Given the description of an element on the screen output the (x, y) to click on. 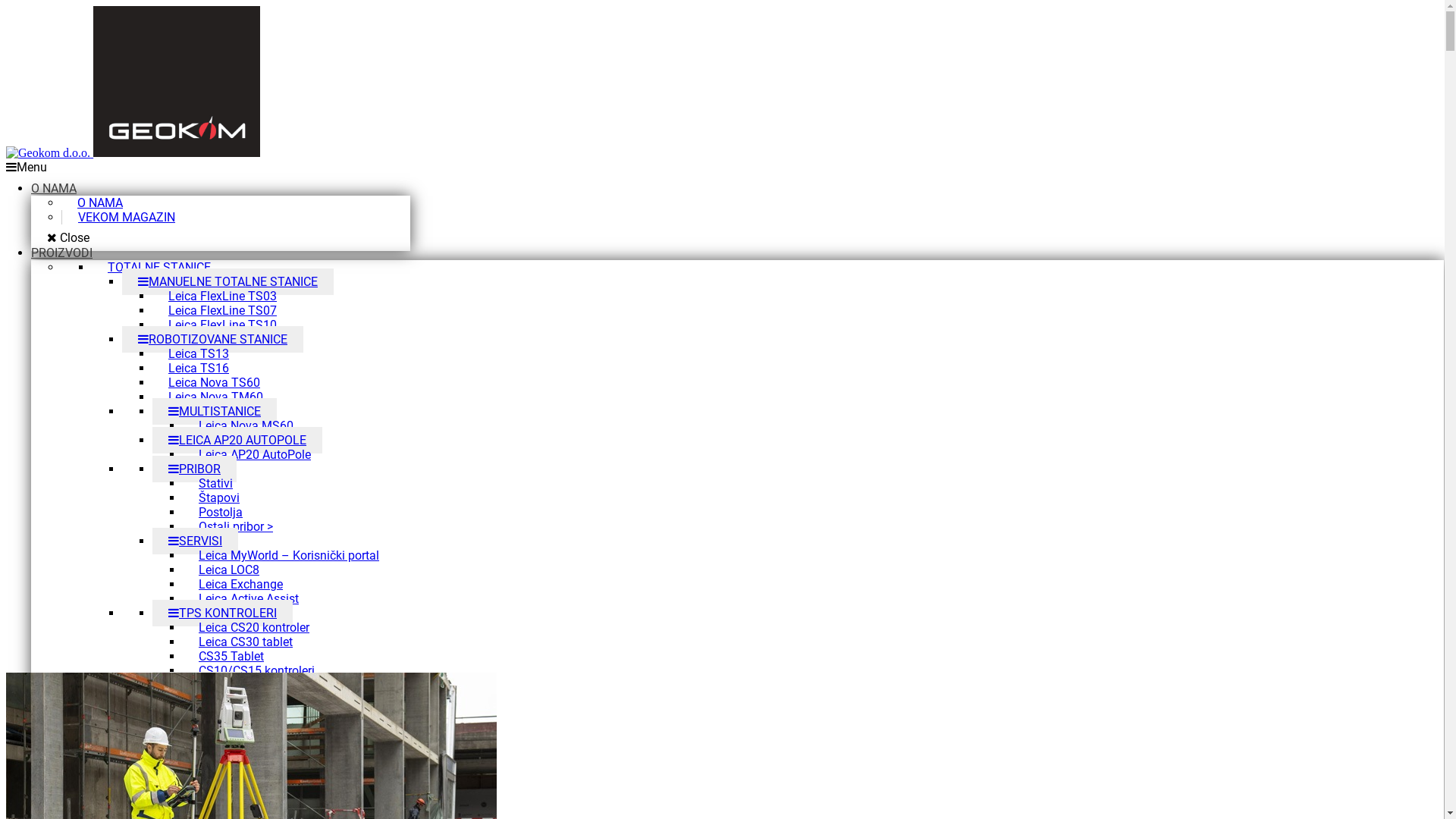
Leica CS20 kontroler Element type: text (253, 627)
Leica CS30 tablet Element type: text (245, 641)
ROBOTIZOVANE STANICE Element type: text (212, 339)
O NAMA Element type: text (53, 188)
PROIZVODI Element type: text (61, 252)
Leica LOC8 Element type: text (228, 569)
Leica GeoMoS Element type: text (207, 771)
TPS KONTROLERI Element type: text (222, 612)
Leica Infinity Softver Element type: text (223, 756)
CS35 Tablet Element type: text (230, 656)
Leica Nova TS60 Element type: text (214, 382)
Leica TS13 Element type: text (198, 353)
Leica Captivate Element type: text (209, 742)
Menu Element type: text (26, 167)
SERVISI Element type: text (195, 540)
Postolja Element type: text (220, 511)
Leica Nova TM60 Element type: text (215, 396)
Leica TS16 Element type: text (198, 367)
Stativi Element type: text (215, 483)
Leica M-Com Element type: text (233, 713)
CS10/CS15 kontroleri Element type: text (256, 670)
SISTEMI Element type: text (196, 684)
Leica Active Assist Element type: text (248, 598)
MULTISTANICE Element type: text (214, 411)
Leica FlexLine TS03 Element type: text (222, 295)
O NAMA Element type: text (99, 202)
Leica GeoMoS Now! Element type: text (222, 785)
PRIBOR Element type: text (194, 468)
MANUELNE TOTALNE STANICE Element type: text (227, 281)
Leica AP20 AutoPole Element type: text (254, 454)
LEICA AP20 AUTOPOLE Element type: text (237, 439)
Leica Exchange Element type: text (240, 584)
Leica Nova MS60 Element type: text (245, 425)
VEKOM MAGAZIN Element type: text (126, 216)
HxGN GeoMonitoring Hub Element type: text (237, 800)
Ostali pribor > Element type: text (235, 526)
TOTALNE STANICE Element type: text (158, 267)
Leica FlexLine TS10 Element type: text (222, 324)
Leica FlexLine TS07 Element type: text (222, 310)
TPS SOFTVER Element type: text (182, 728)
